Given the description of an element on the screen output the (x, y) to click on. 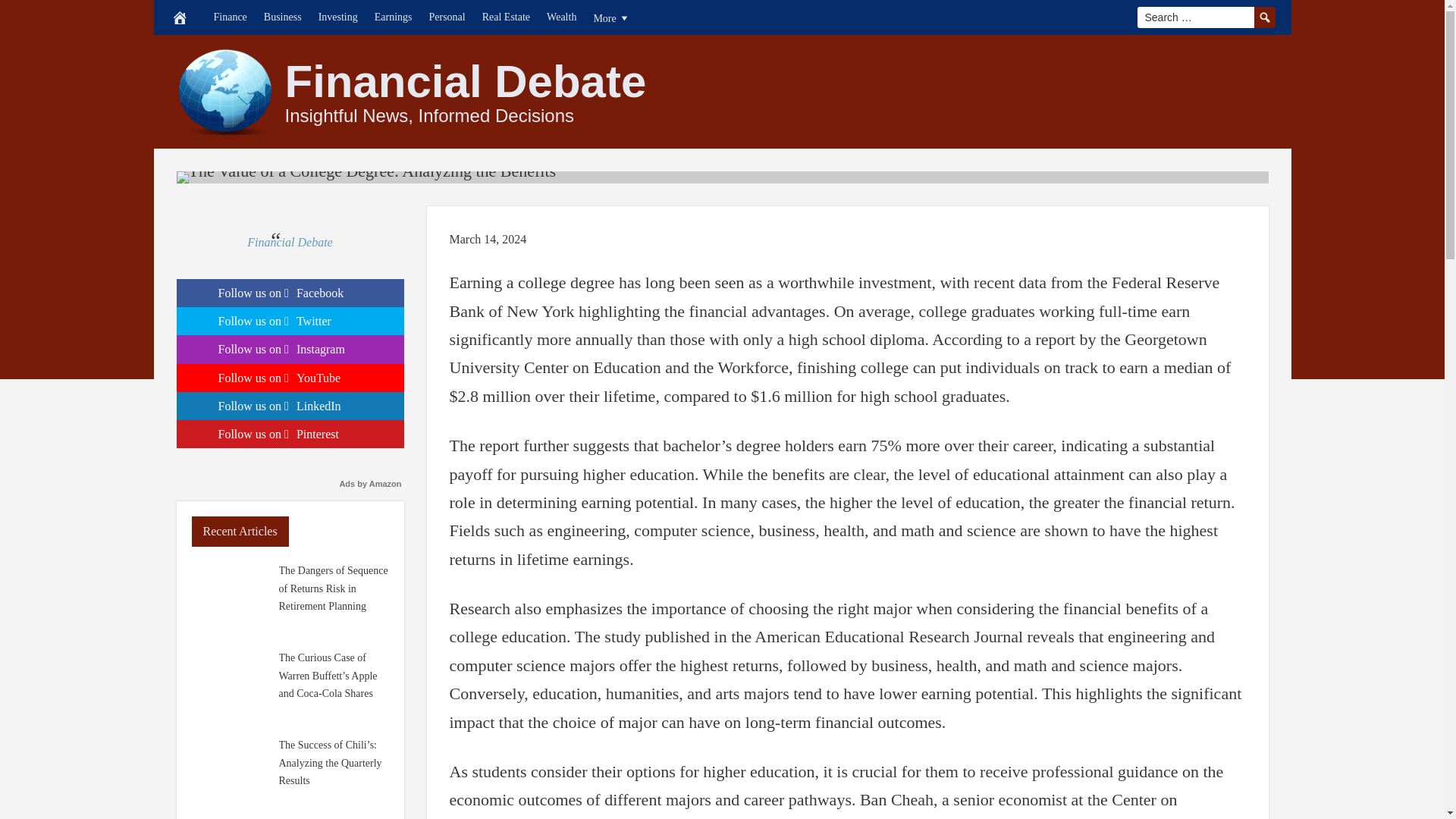
Real Estate (506, 17)
Earnings (393, 17)
Business (283, 17)
Investing (338, 17)
Financial Debate (465, 81)
Finance (229, 17)
Wealth (561, 17)
More (612, 17)
Personal (446, 17)
